Given the description of an element on the screen output the (x, y) to click on. 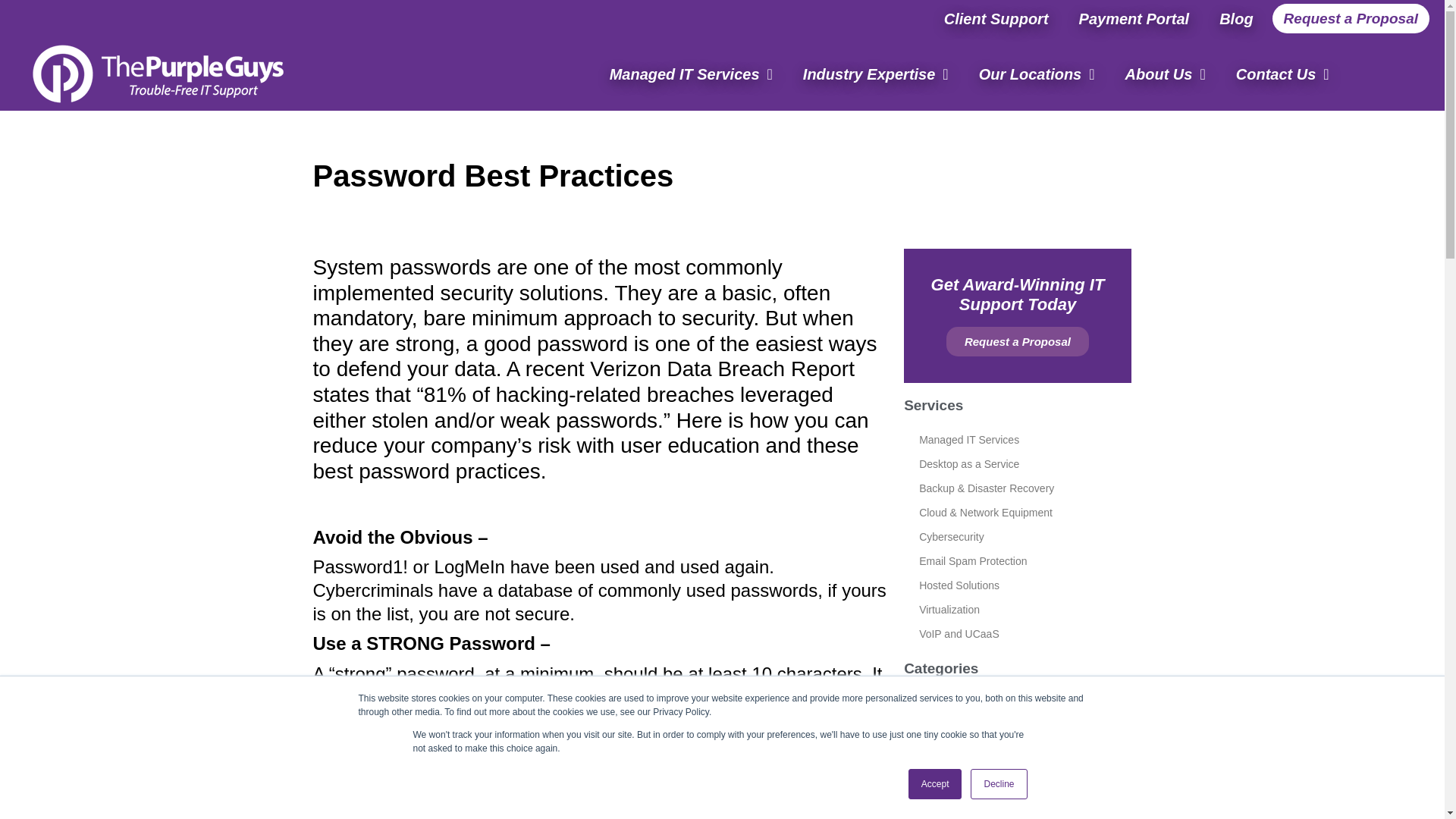
Industry Expertise (875, 73)
Request a Proposal (1350, 18)
Decline (998, 784)
Managed IT Services (690, 73)
Client Support (996, 18)
Payment Portal (1134, 18)
Blog (1236, 18)
Accept (935, 784)
Our Locations (1036, 73)
